Given the description of an element on the screen output the (x, y) to click on. 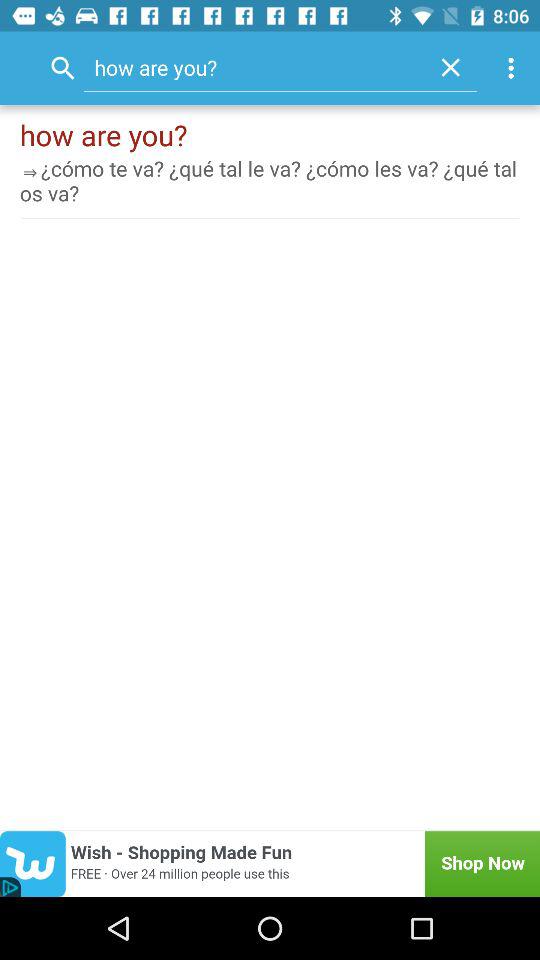
press the icon to the right of how are you? item (450, 67)
